Given the description of an element on the screen output the (x, y) to click on. 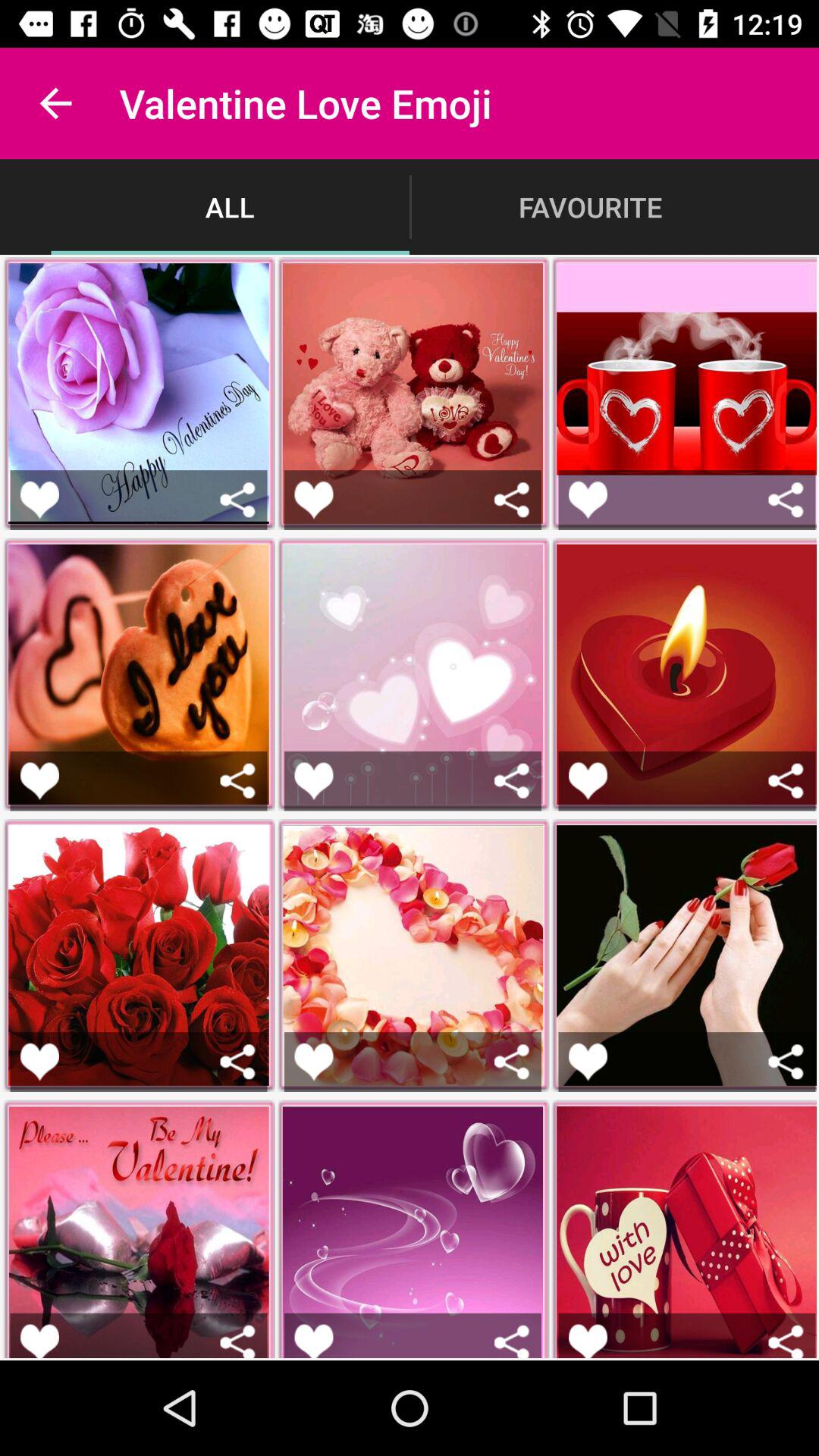
favorite option (587, 499)
